Given the description of an element on the screen output the (x, y) to click on. 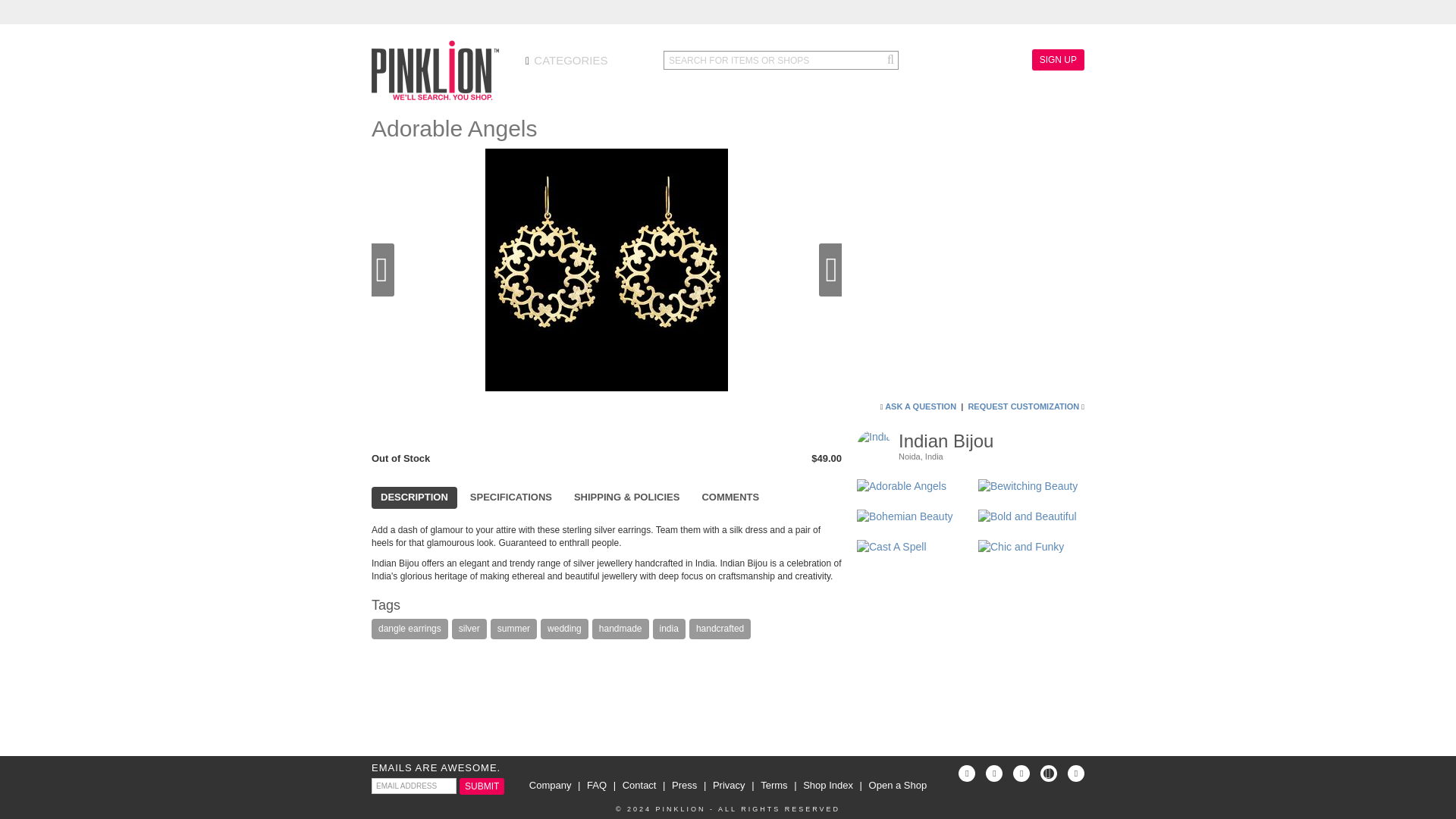
COMMENTS (730, 497)
Indian Bijou (945, 440)
SIGN UP (1058, 59)
summer (513, 629)
DESCRIPTION (414, 497)
CATEGORIES (566, 60)
dangle earrings (409, 629)
handmade (620, 629)
ASK A QUESTION (920, 406)
india (668, 629)
silver (468, 629)
REQUEST CUSTOMIZATION (1023, 406)
handcrafted (719, 629)
SPECIFICATIONS (510, 497)
wedding (564, 629)
